Given the description of an element on the screen output the (x, y) to click on. 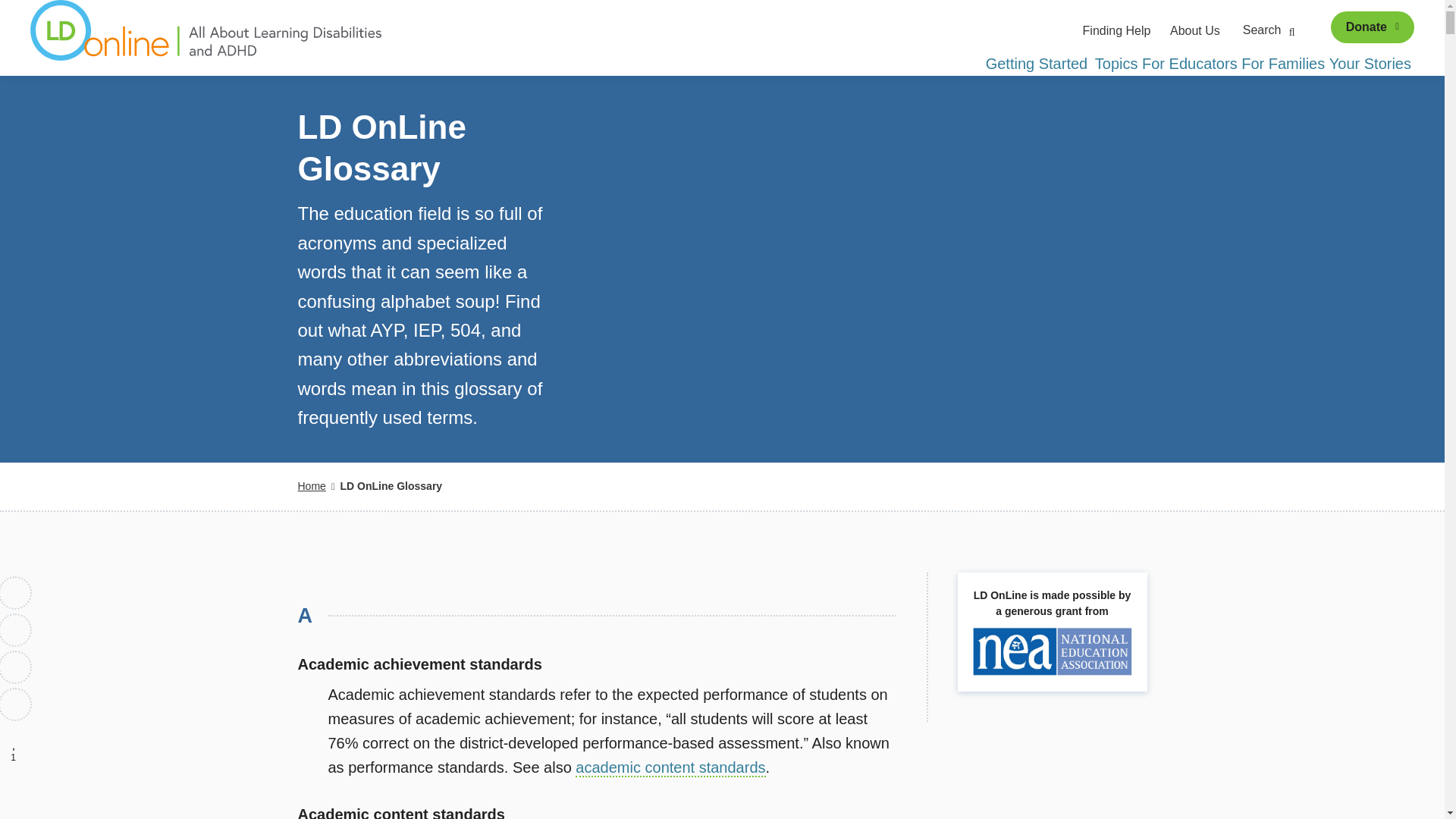
Topics (1116, 63)
Share to X (16, 630)
Finding Help (1117, 30)
WETA (1039, 30)
Home (310, 485)
Share to Linkedin (16, 666)
Getting Started (1037, 63)
For Families (1282, 63)
Share to Email (16, 704)
academic content standards (670, 767)
Share to Facebook (16, 592)
Home (205, 38)
About Us (1195, 30)
Donate (1371, 27)
